Given the description of an element on the screen output the (x, y) to click on. 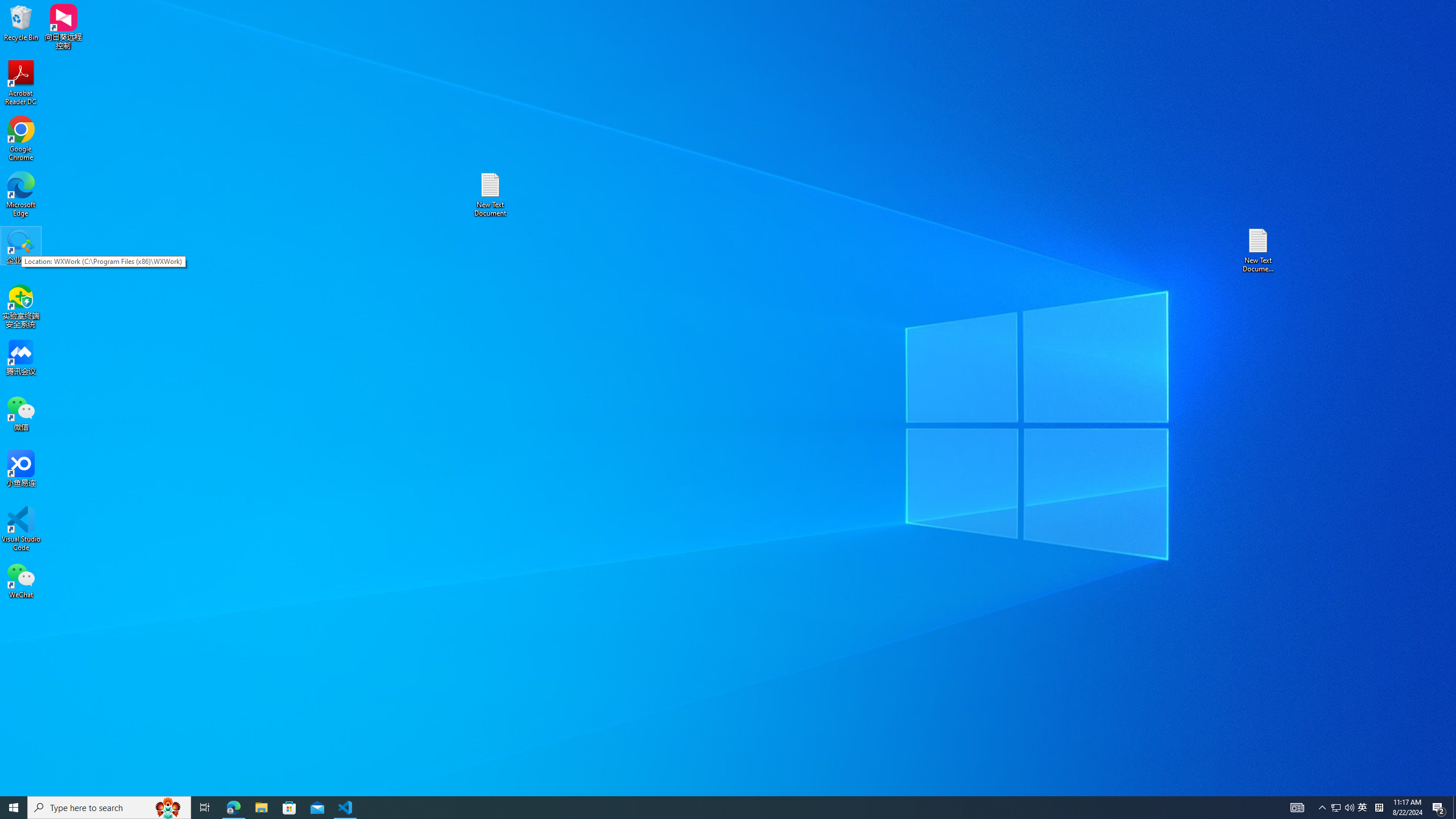
Visual Studio Code - 1 running window (345, 807)
Google Chrome (21, 138)
New Text Document (2) (1258, 250)
